Given the description of an element on the screen output the (x, y) to click on. 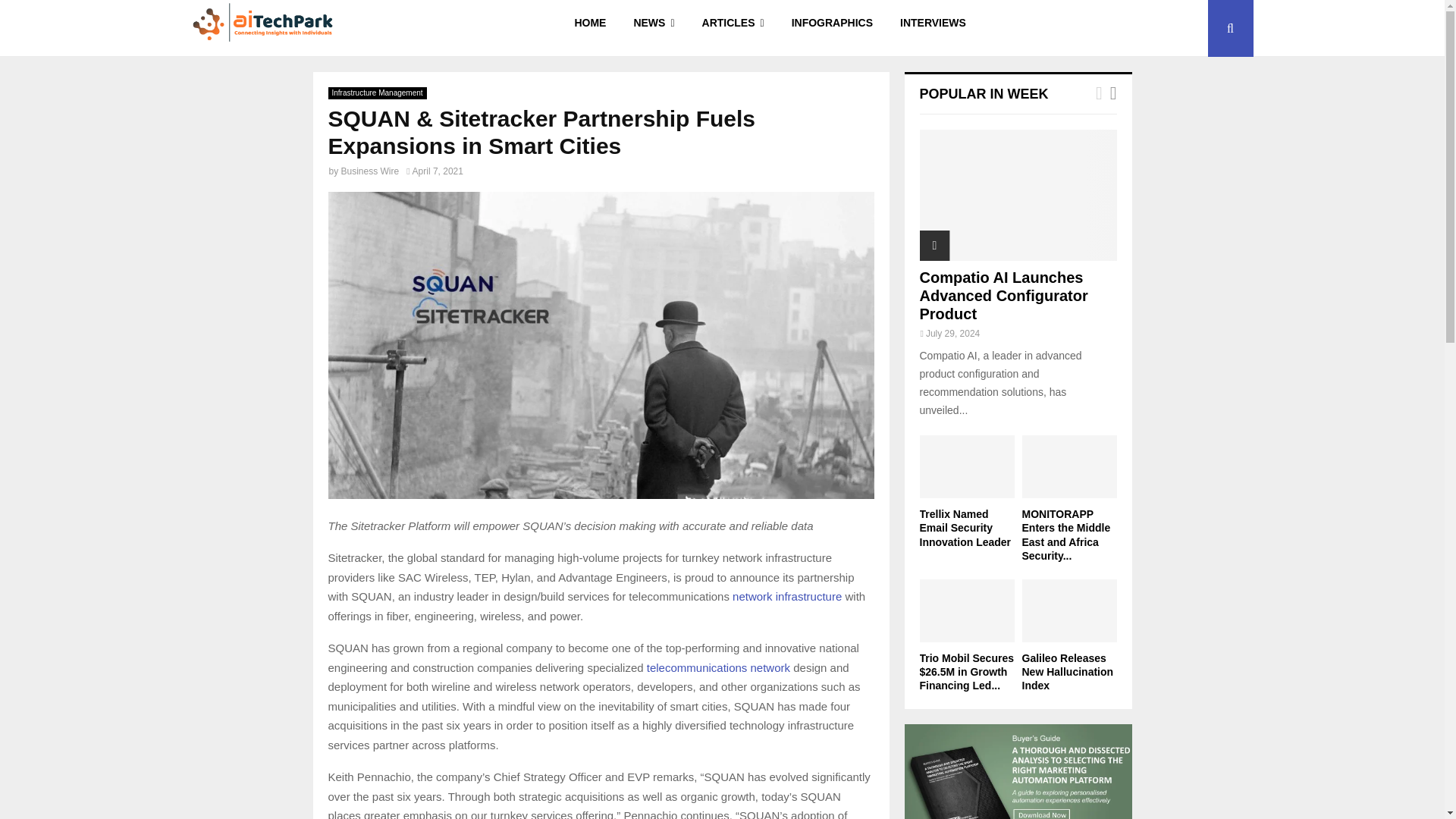
 Compatio AI Launches Advanced Configurator Product  (1002, 295)
MONITORAPP Enters the Middle East and Africa Security Market (1069, 465)
NEWS (653, 28)
Compatio AI Launches Advanced Configurator Product (1017, 195)
 Trellix Named Email Security Innovation Leader  (964, 527)
HOME (590, 28)
Galileo Releases New Hallucination Index (1069, 610)
Trellix Named Email Security Innovation Leader (965, 465)
